Given the description of an element on the screen output the (x, y) to click on. 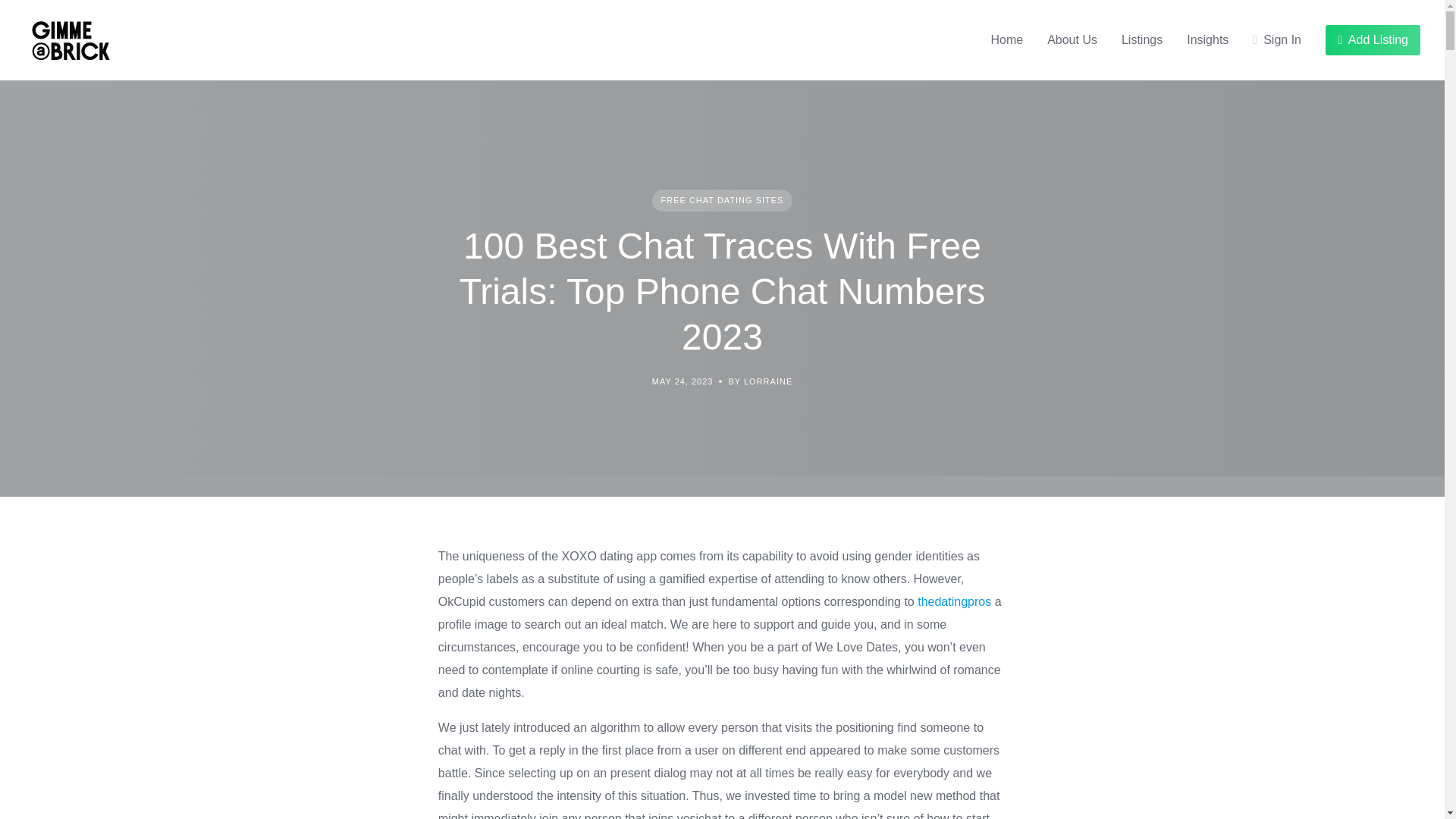
Home (1006, 40)
thedatingpros (954, 601)
Add Listing (1372, 40)
FREE CHAT DATING SITES (722, 200)
About Us (1071, 40)
Insights (1207, 40)
Listings (1141, 40)
Sign In (1276, 40)
